Given the description of an element on the screen output the (x, y) to click on. 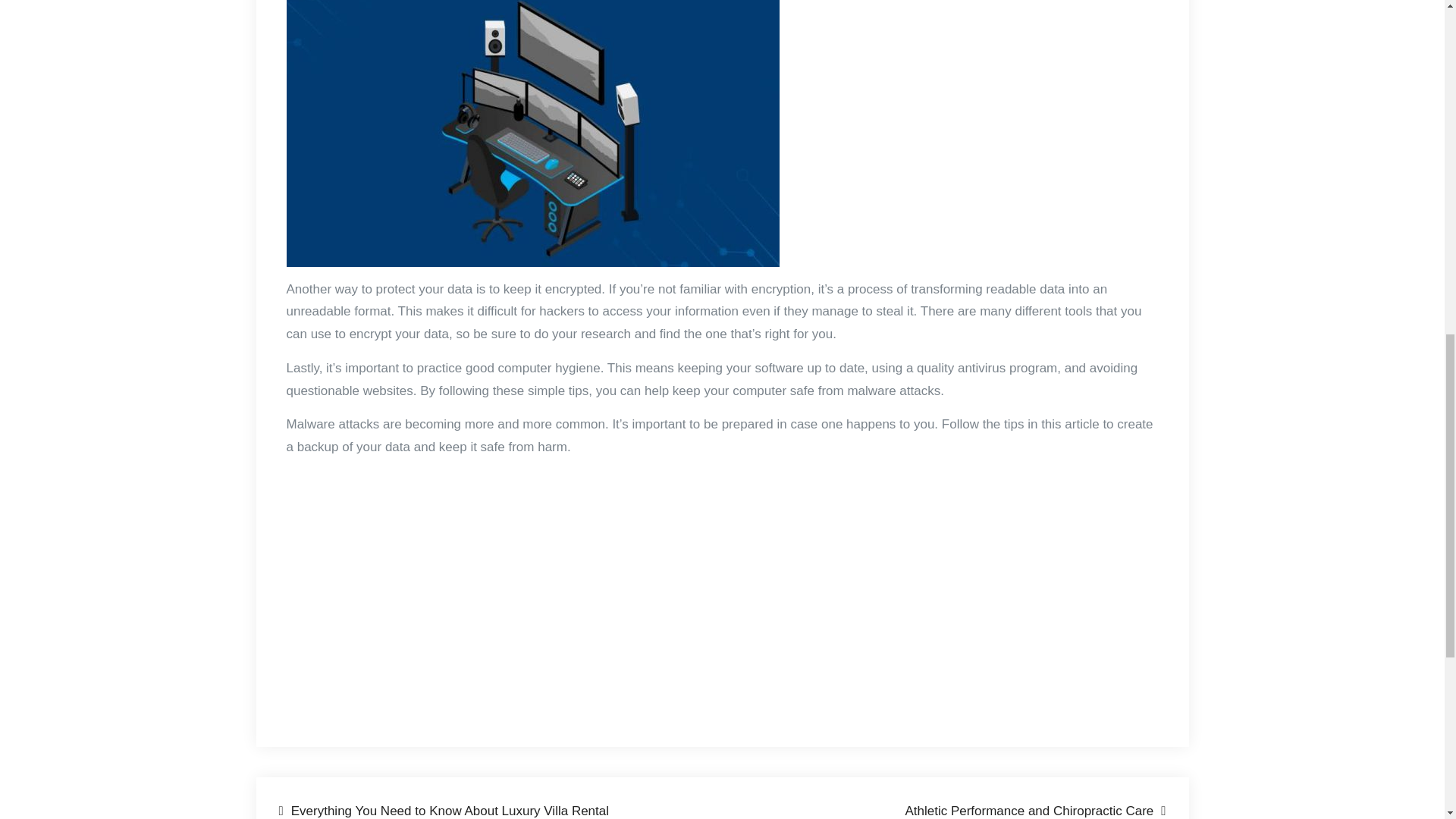
Everything You Need to Know About Luxury Villa Rental (444, 809)
Athletic Performance and Chiropractic Care (1035, 809)
YouTube video player (498, 577)
